Given the description of an element on the screen output the (x, y) to click on. 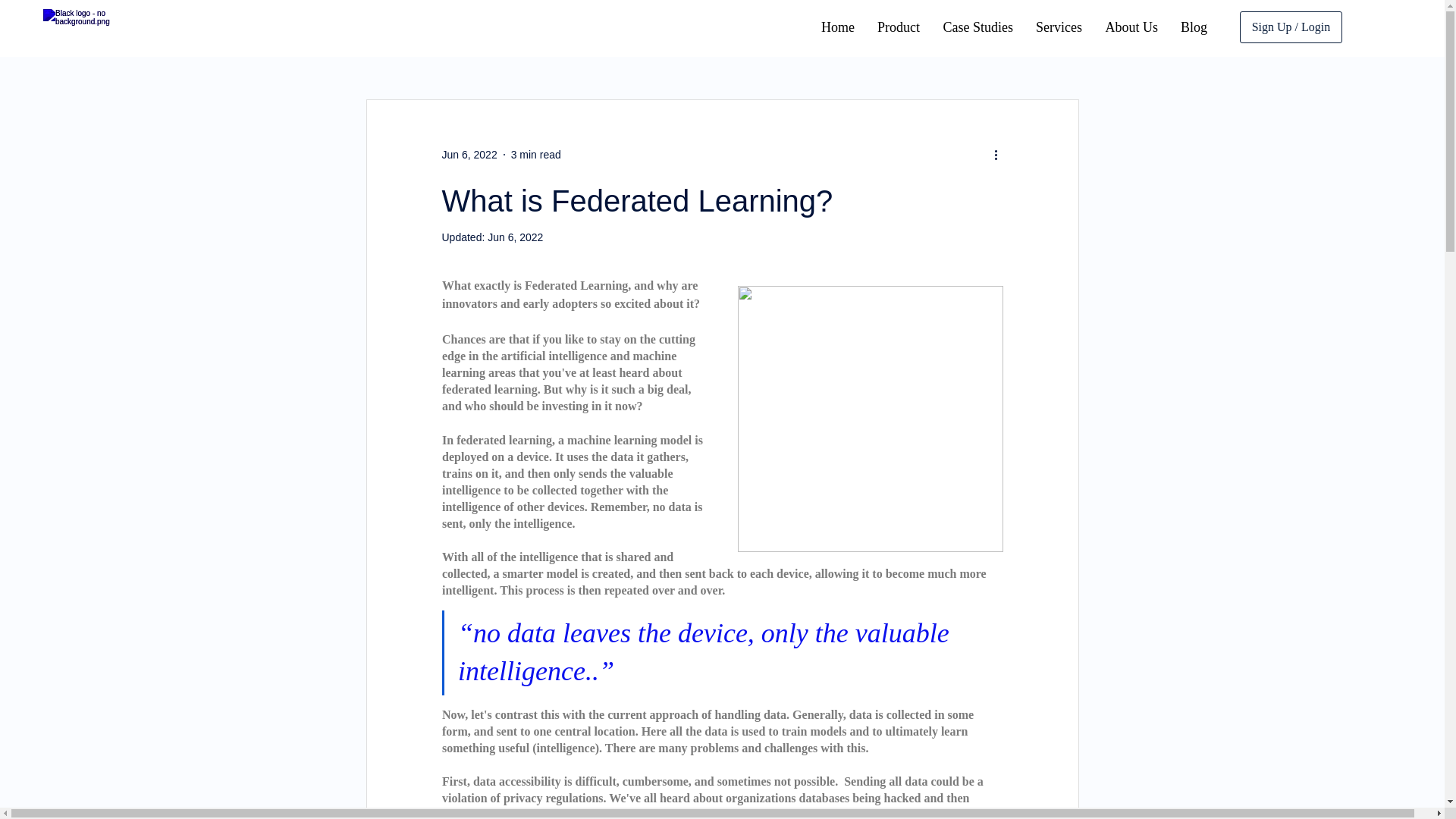
Jun 6, 2022 (515, 236)
Jun 6, 2022 (468, 154)
About Us (1131, 26)
Home (837, 26)
3 min read (535, 154)
Product (898, 26)
Services (1059, 26)
Blog (1193, 26)
Case Studies (978, 26)
